Given the description of an element on the screen output the (x, y) to click on. 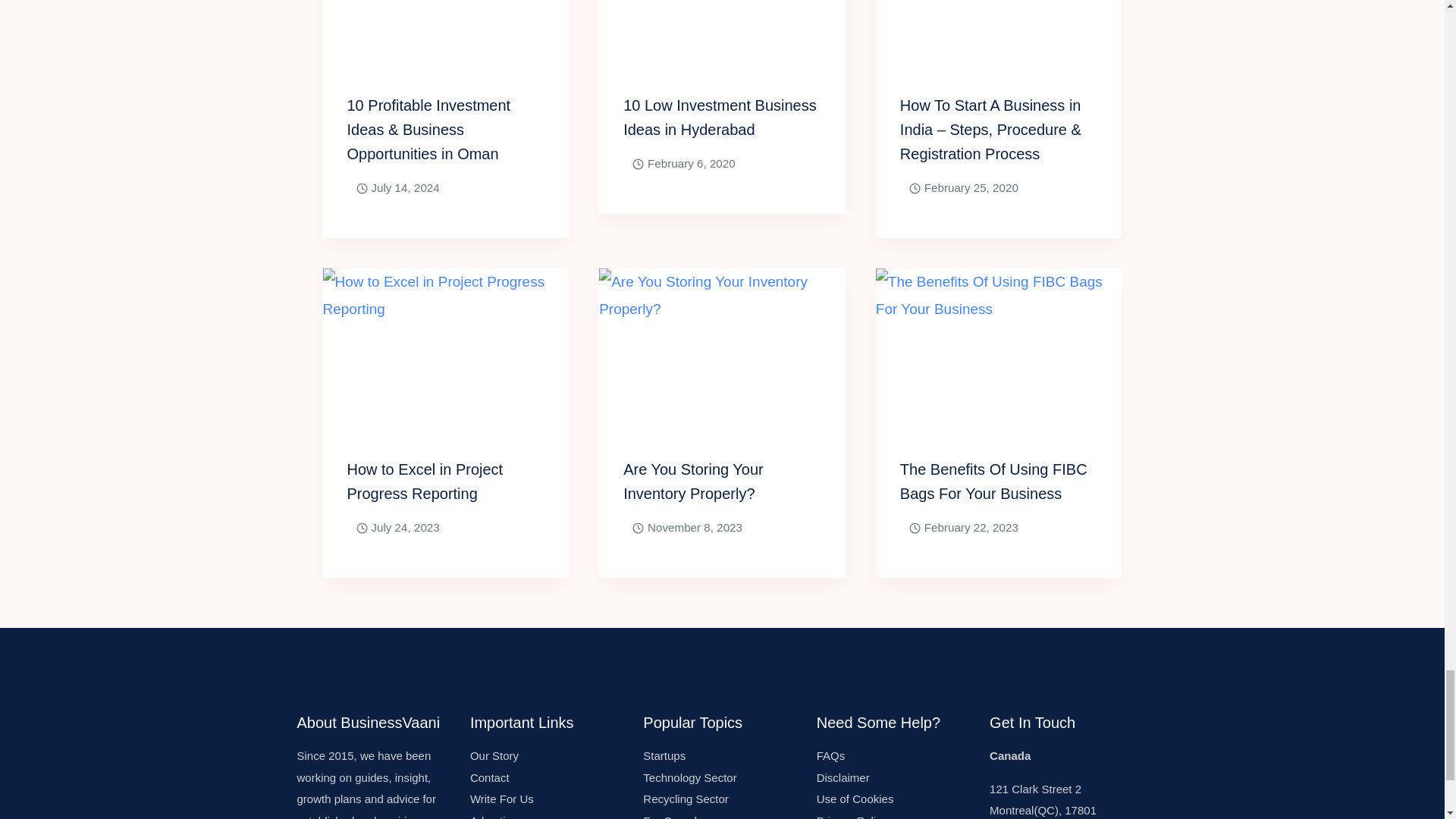
For Canada (673, 816)
Technology Sector (689, 777)
The Benefits Of Using FIBC Bags For Your Business (993, 481)
Contact (489, 777)
How to Excel in Project Progress Reporting (425, 481)
Recycling Sector (686, 798)
Advertise (494, 816)
Startups (664, 755)
Our Story (494, 755)
Are You Storing Your Inventory Properly? (692, 481)
